Given the description of an element on the screen output the (x, y) to click on. 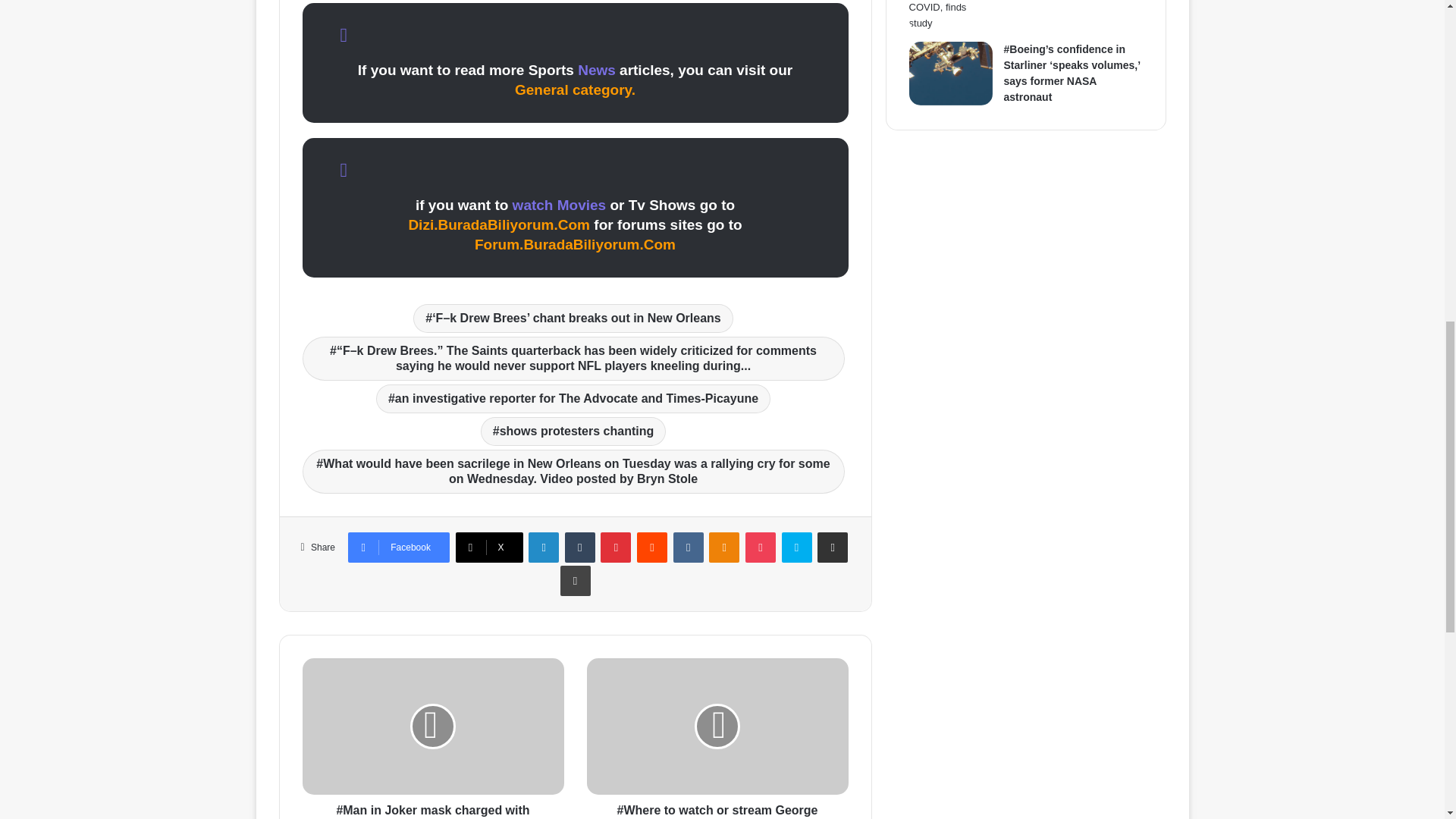
LinkedIn (543, 547)
X (488, 547)
News (596, 69)
Facebook (398, 547)
